Given the description of an element on the screen output the (x, y) to click on. 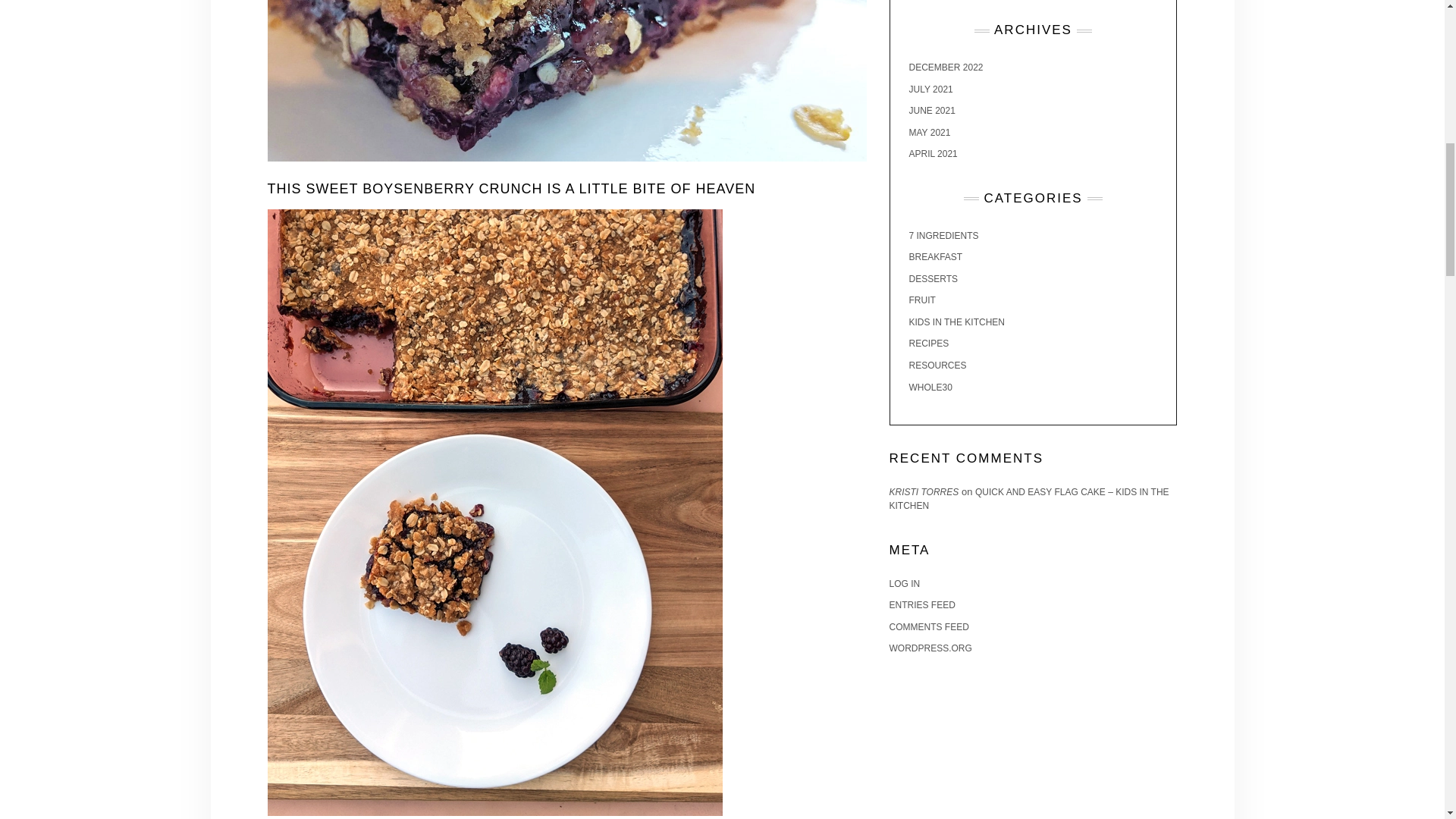
JULY 2021 (930, 89)
JUNE 2021 (931, 110)
This Sweet Boysenberry Crunch is a little bite of Heaven (510, 188)
MAY 2021 (929, 132)
DECEMBER 2022 (945, 67)
THIS SWEET BOYSENBERRY CRUNCH IS A LITTLE BITE OF HEAVEN (510, 188)
